Given the description of an element on the screen output the (x, y) to click on. 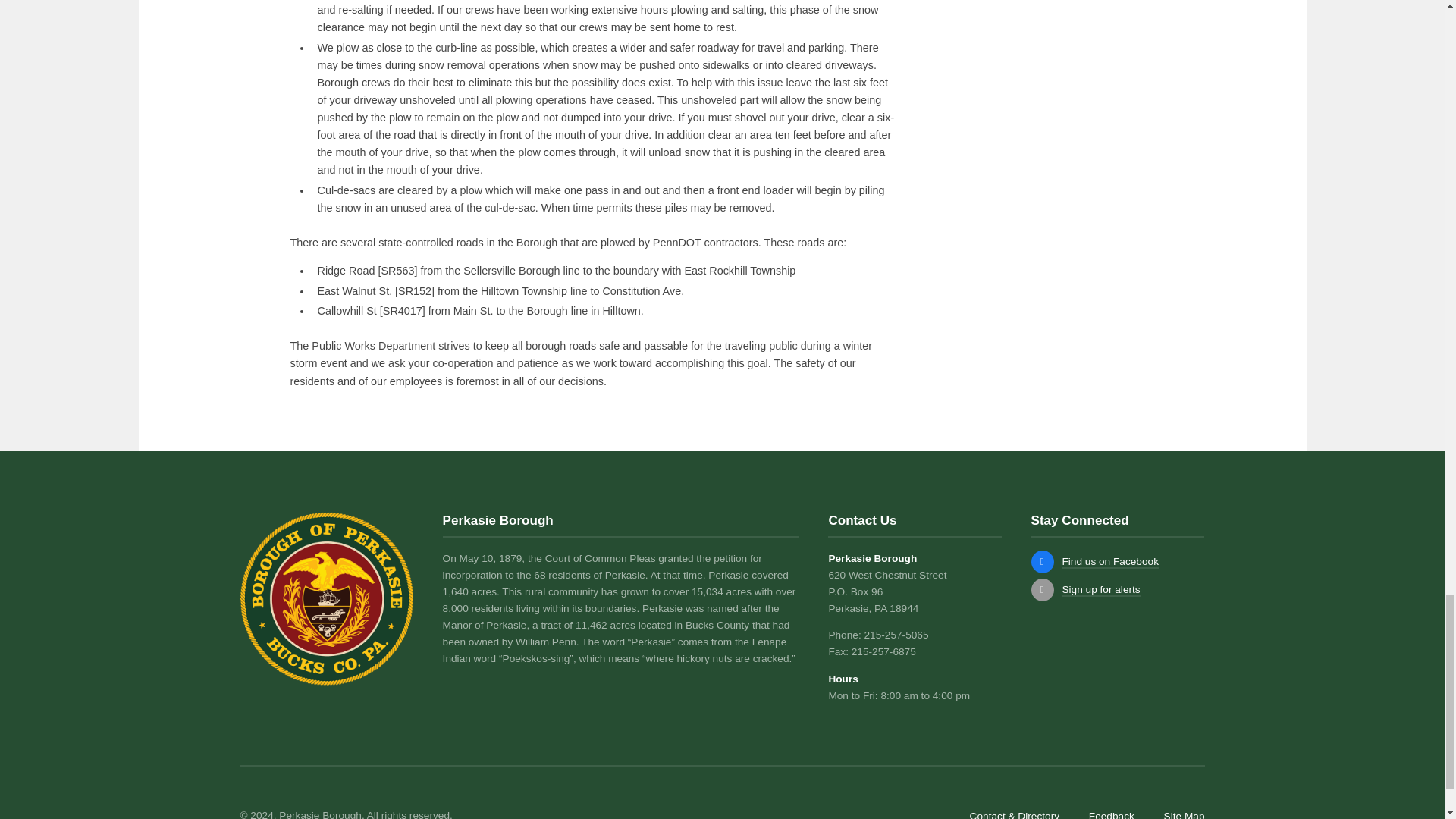
Find us on Facebook (1109, 562)
Find us on Facebook (1042, 561)
